Given the description of an element on the screen output the (x, y) to click on. 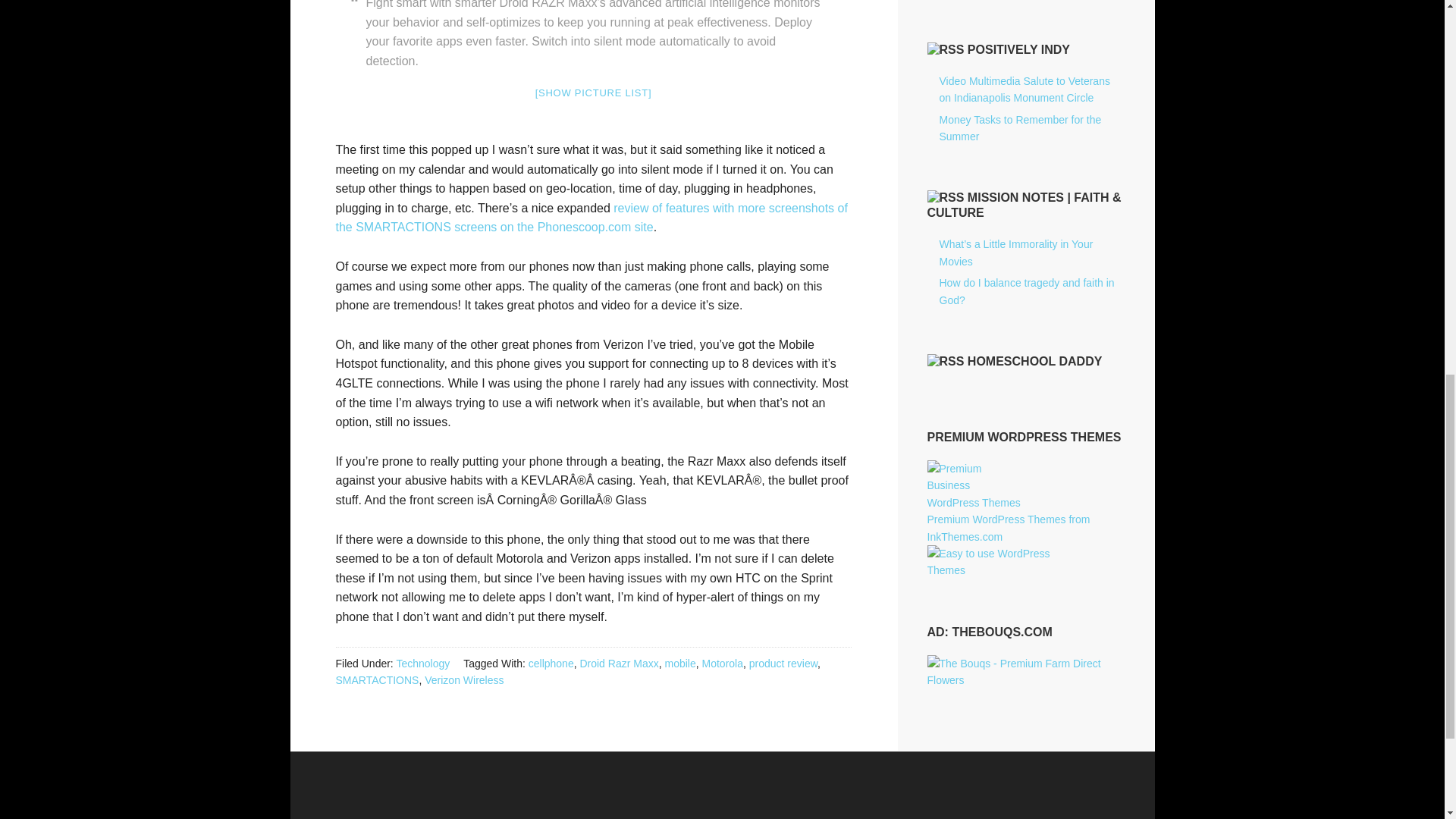
Review: Motorola Droid RAZR for Verizon Wireless. (590, 217)
Droid Razr Maxx (618, 663)
Premium WordPress Themes from InkThemes (1007, 527)
SMARTACTIONS (376, 680)
POSITIVELY INDY (1019, 49)
Verizon Wireless (464, 680)
Motorola (721, 663)
cellphone (550, 663)
Technology (422, 663)
mobile (679, 663)
product review (782, 663)
